Given the description of an element on the screen output the (x, y) to click on. 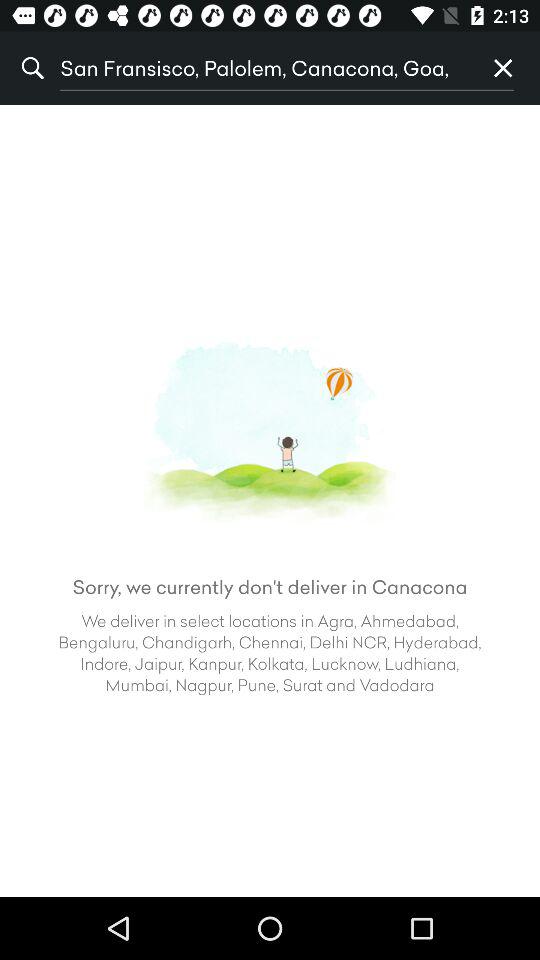
press the icon at the top right corner (503, 68)
